Given the description of an element on the screen output the (x, y) to click on. 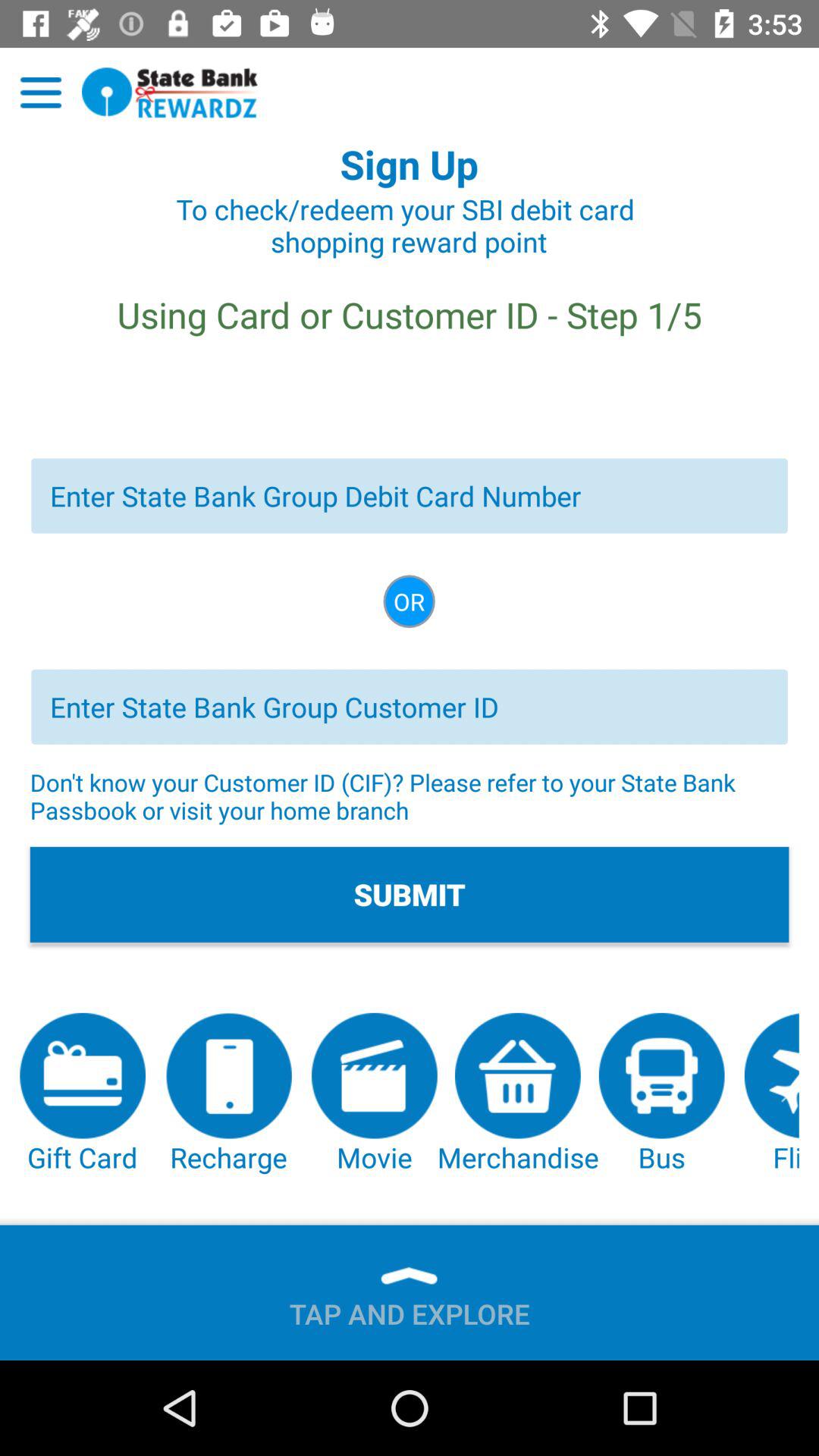
enter state bank group debit card number (409, 495)
